Given the description of an element on the screen output the (x, y) to click on. 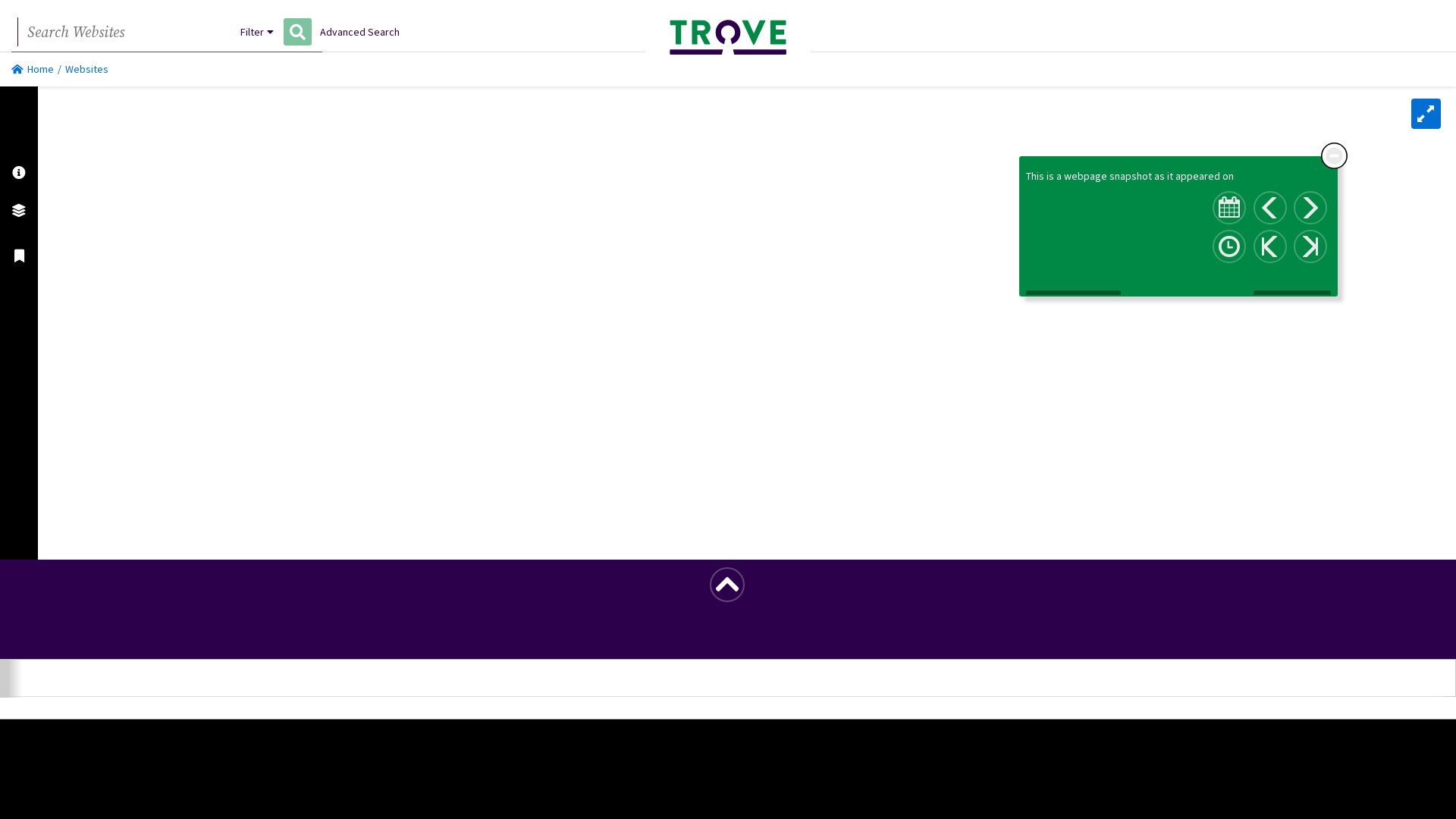
Minimise snapshot remote Element type: hover (1334, 155)
Next snapshot of this webpage Element type: hover (1310, 207)
Archived webpage snapshot Element type: hover (124, 446)
More snapshots... Element type: text (1291, 299)
Previous snapshot of this webpage Element type: hover (1269, 207)
Show all snapshot dates for this webpage Element type: hover (1228, 207)
webpage snapshot Element type: text (1107, 175)
Filter Element type: text (256, 31)
Search Element type: text (297, 31)
Show timeline of snapshot dates Element type: hover (1228, 246)
Earliest snapshot of this webpage Element type: hover (1269, 246)
Home Element type: text (32, 68)
View the live webpage Element type: text (1073, 299)
Latest snapshot of this webpage Element type: hover (1310, 246)
Advanced Search Element type: text (359, 31)
Full screen Element type: hover (1425, 113)
Websites Element type: text (86, 68)
